Given the description of an element on the screen output the (x, y) to click on. 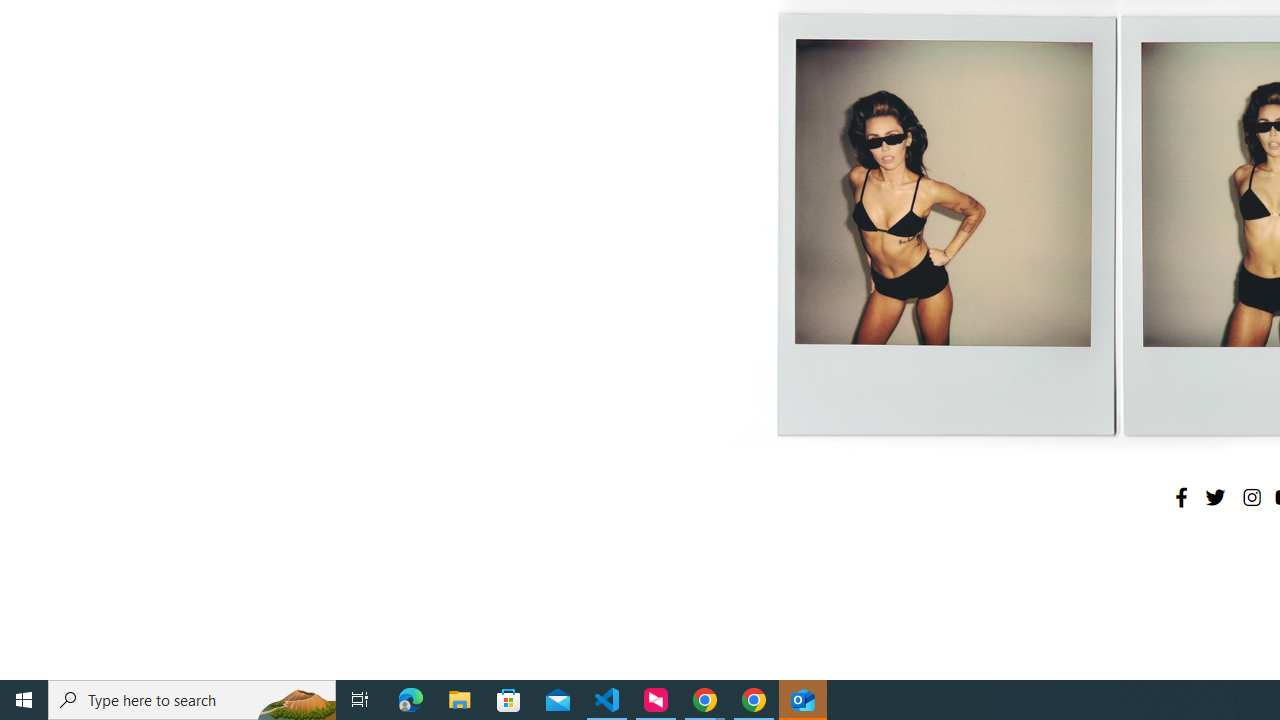
Facebook (1181, 497)
Instagram (1251, 497)
